Given the description of an element on the screen output the (x, y) to click on. 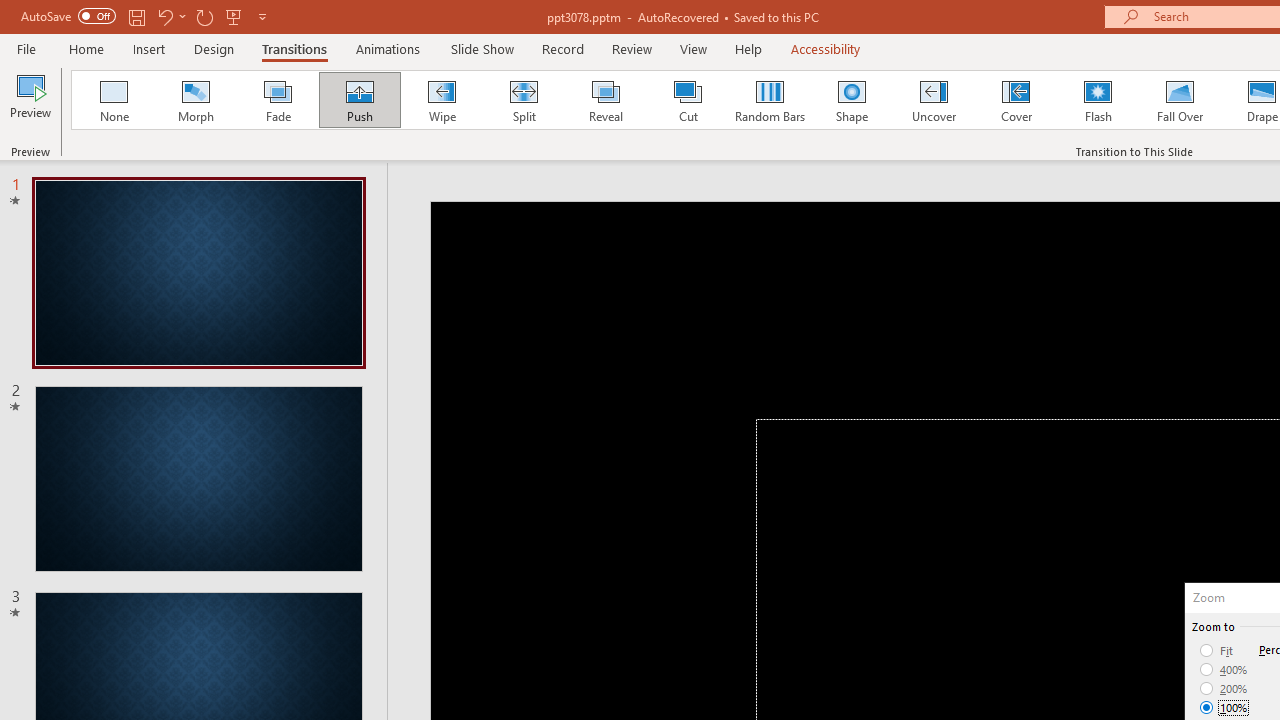
Fit (1217, 650)
Morph (195, 100)
Reveal (605, 100)
100% (1224, 707)
Cover (1016, 100)
Fade (277, 100)
Fall Over (1180, 100)
